Given the description of an element on the screen output the (x, y) to click on. 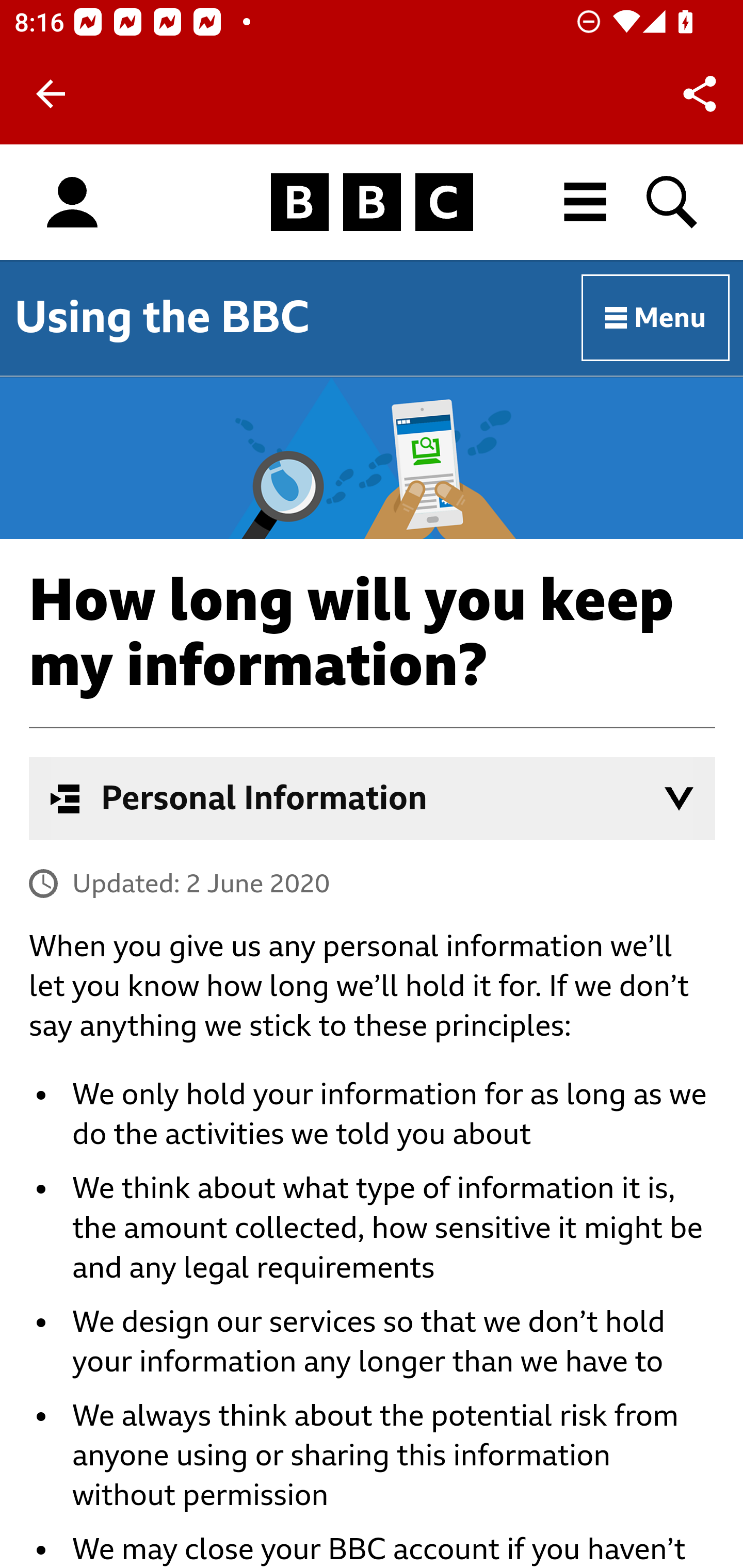
Back (50, 93)
Share (699, 93)
All BBC destinations menu (585, 202)
Search BBC (672, 202)
Sign in (71, 203)
Homepage (371, 203)
Menu (656, 318)
Using the BBC (162, 317)
Personal Information (372, 798)
